Given the description of an element on the screen output the (x, y) to click on. 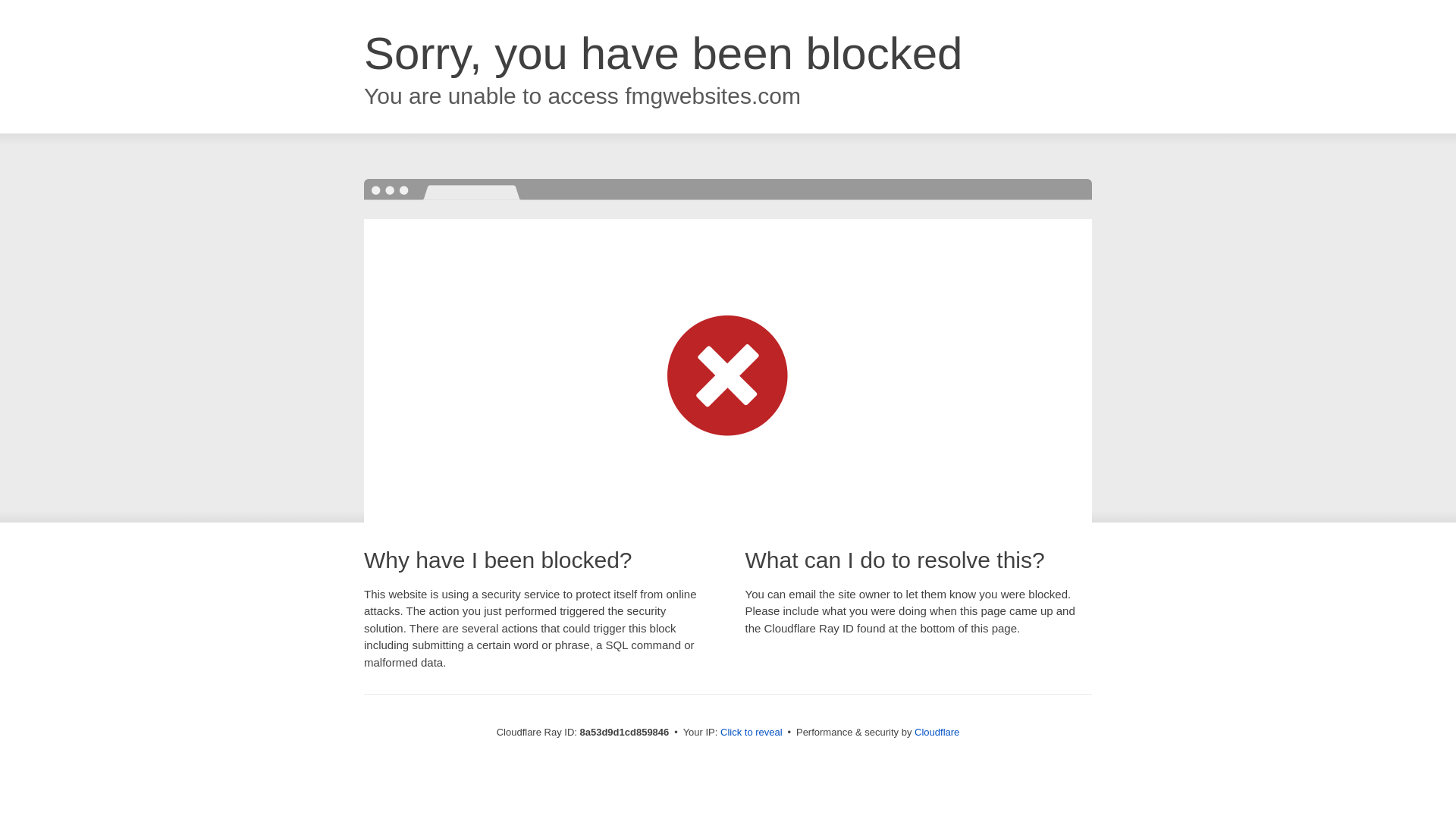
Cloudflare (936, 731)
Click to reveal (751, 732)
